Given the description of an element on the screen output the (x, y) to click on. 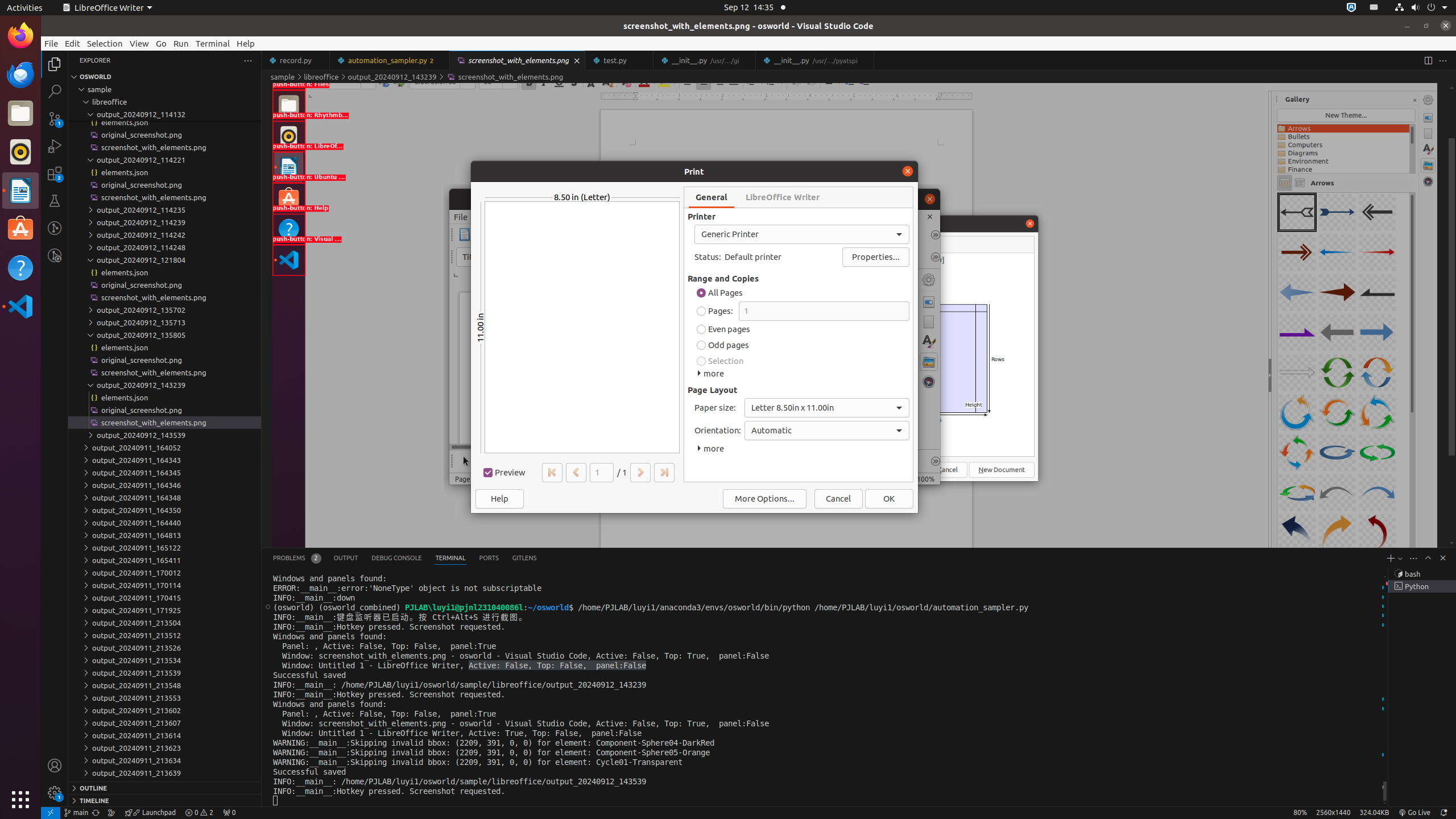
System Element type: menu (1420, 7)
Rhythmbox Element type: push-button (20, 151)
Files Element type: push-button (20, 113)
Thunderbird Mail Element type: push-button (20, 74)
Help Element type: push-button (20, 267)
